Given the description of an element on the screen output the (x, y) to click on. 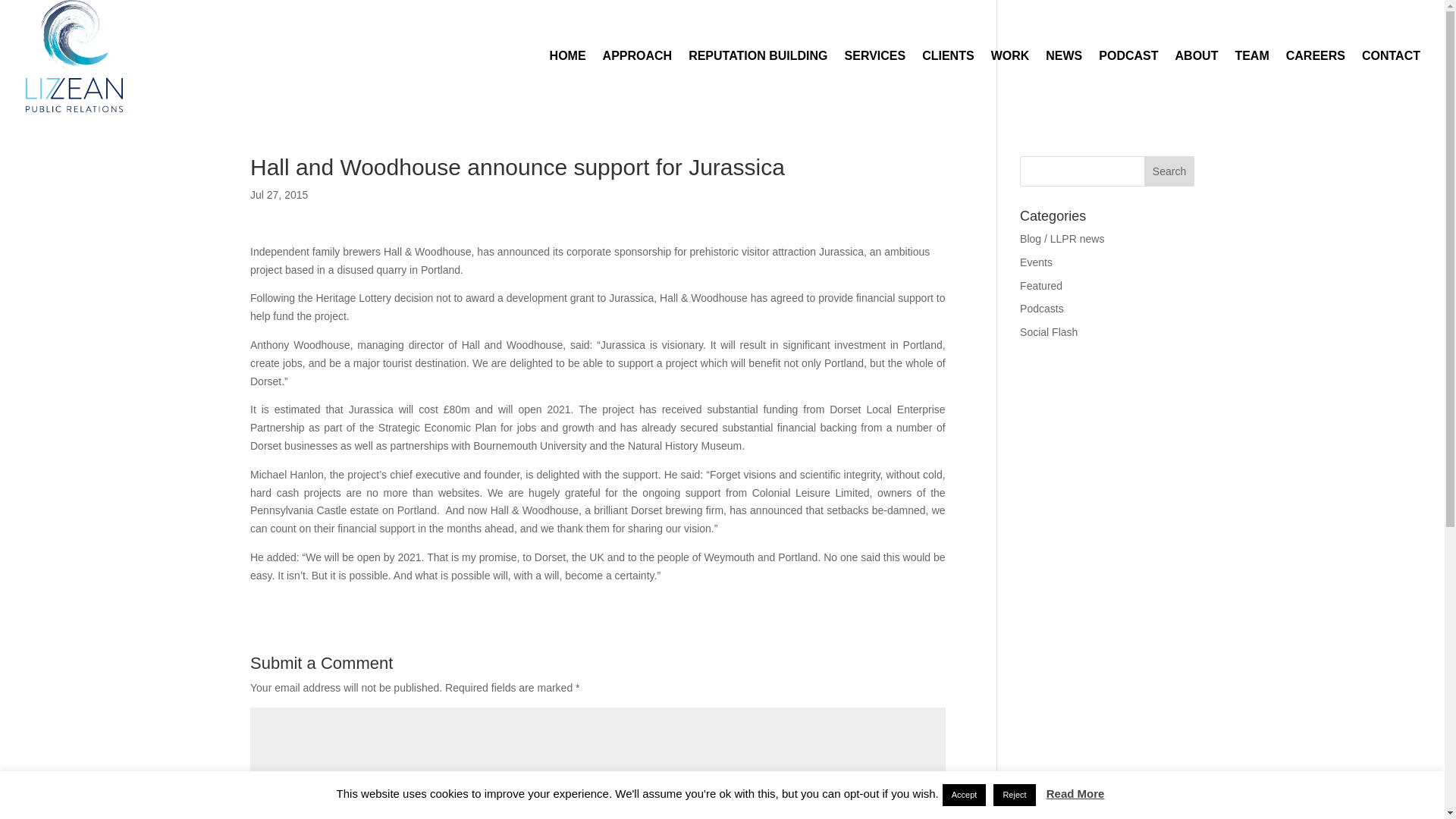
CONTACT (1391, 81)
Search (1168, 171)
Events (1036, 262)
Featured (1041, 285)
PODCAST (1128, 81)
Social Flash (1048, 331)
Search (1168, 171)
REPUTATION BUILDING (757, 81)
CAREERS (1315, 81)
SERVICES (874, 81)
APPROACH (637, 81)
Podcasts (1042, 308)
